Given the description of an element on the screen output the (x, y) to click on. 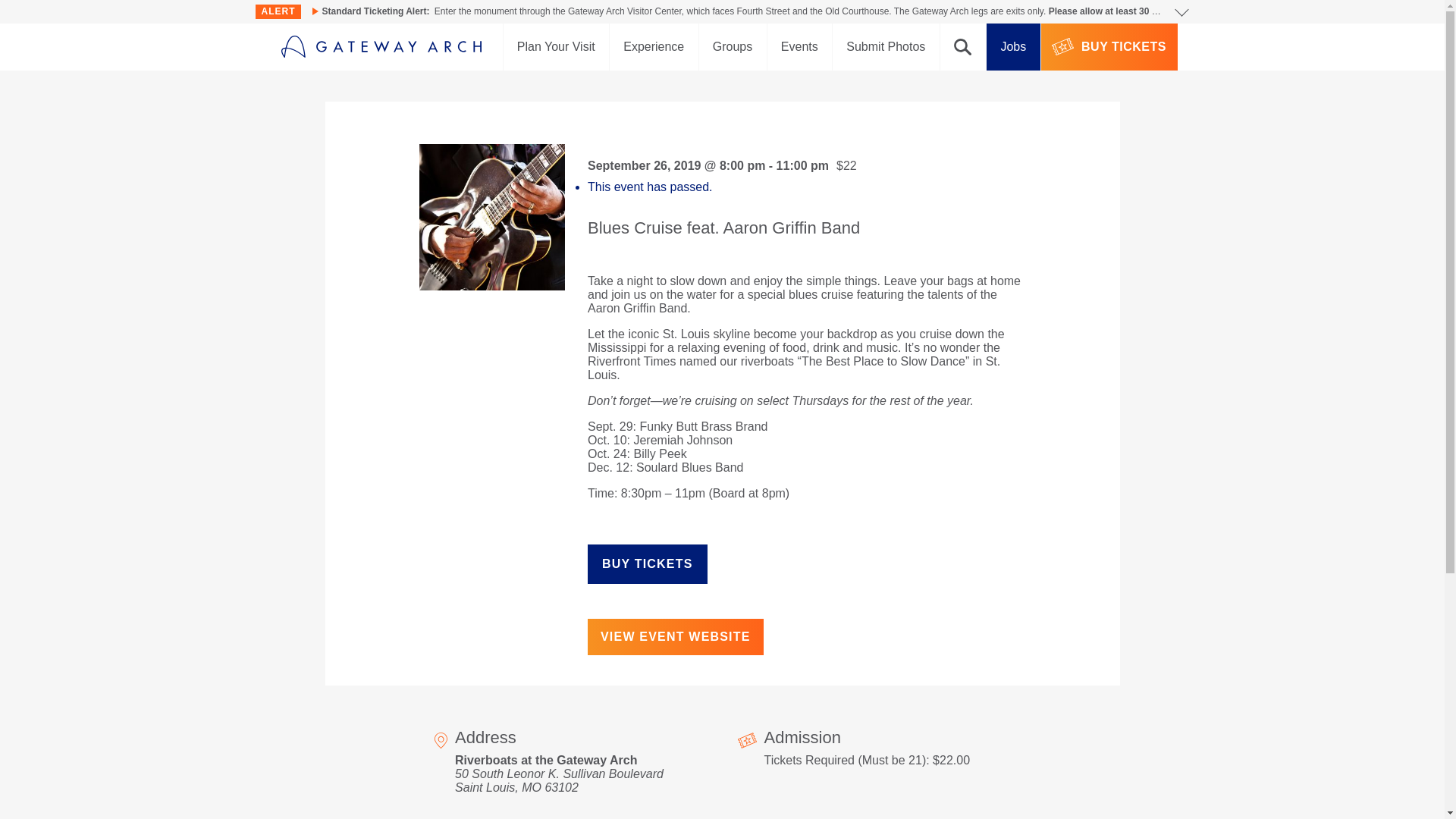
Search (963, 46)
BUY TICKETS (647, 563)
BUY TICKETS (1108, 46)
Plan Your Visit (555, 46)
Missouri (531, 787)
Jobs (1013, 46)
Events (799, 46)
VIEW EVENT WEBSITE (675, 637)
Submit Photos (885, 46)
Groups (732, 46)
